Given the description of an element on the screen output the (x, y) to click on. 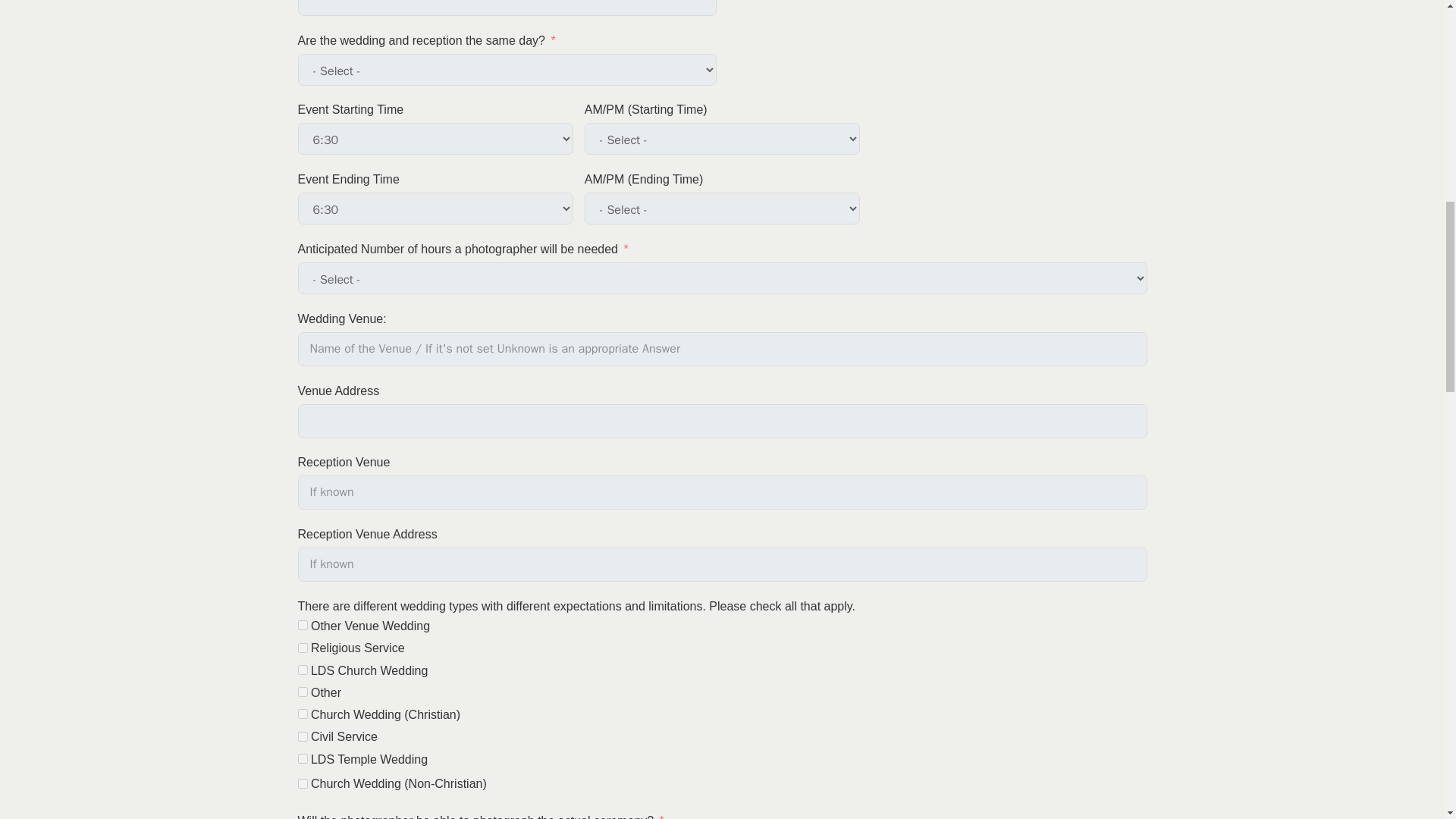
LDS Temple Wedding (302, 758)
Other Venue Wedding (302, 624)
LDS Church Wedding (302, 669)
Religious Service (302, 647)
Civil Service (302, 737)
Other (302, 691)
